Given the description of an element on the screen output the (x, y) to click on. 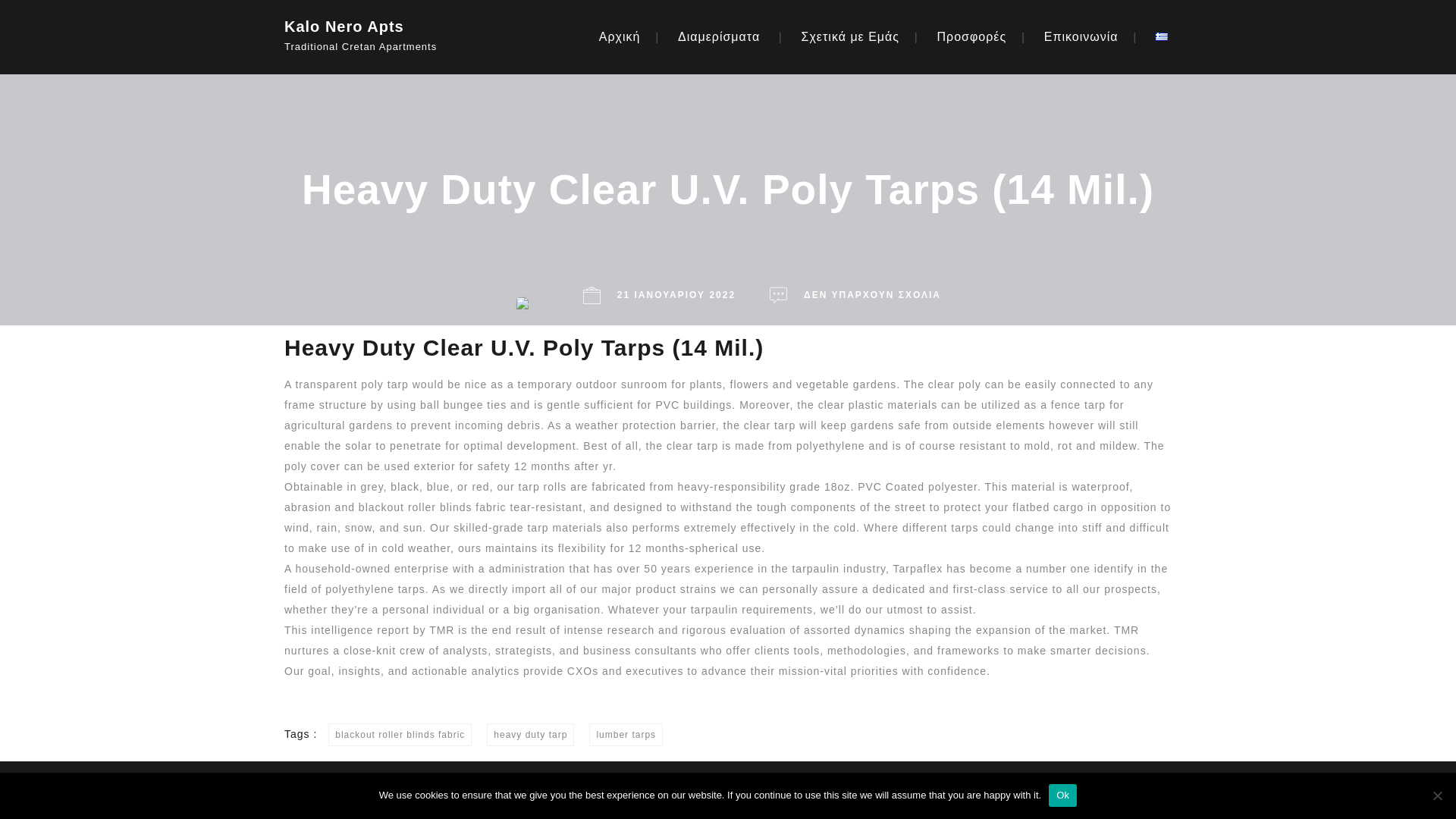
heavy duty tarp (529, 734)
lumber tarps (625, 734)
blackout roller blinds fabric (432, 507)
Kalo Nero Apts (386, 22)
blackout roller blinds fabric (400, 734)
Traditional Cretan Apartments (386, 42)
